Given the description of an element on the screen output the (x, y) to click on. 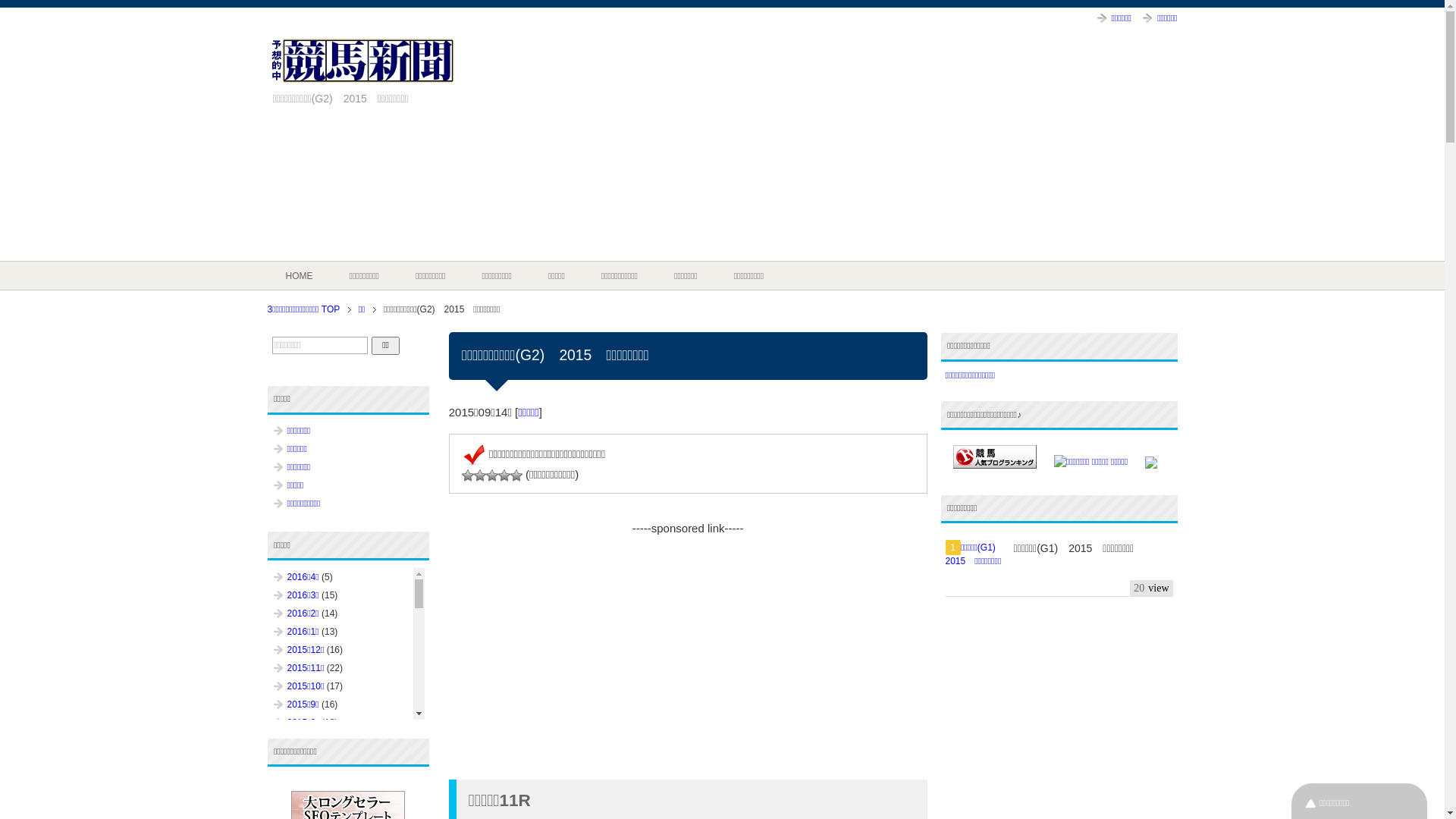
Advertisement Element type: hover (996, 145)
Advertisement Element type: hover (687, 655)
HOME Element type: text (298, 275)
